Given the description of an element on the screen output the (x, y) to click on. 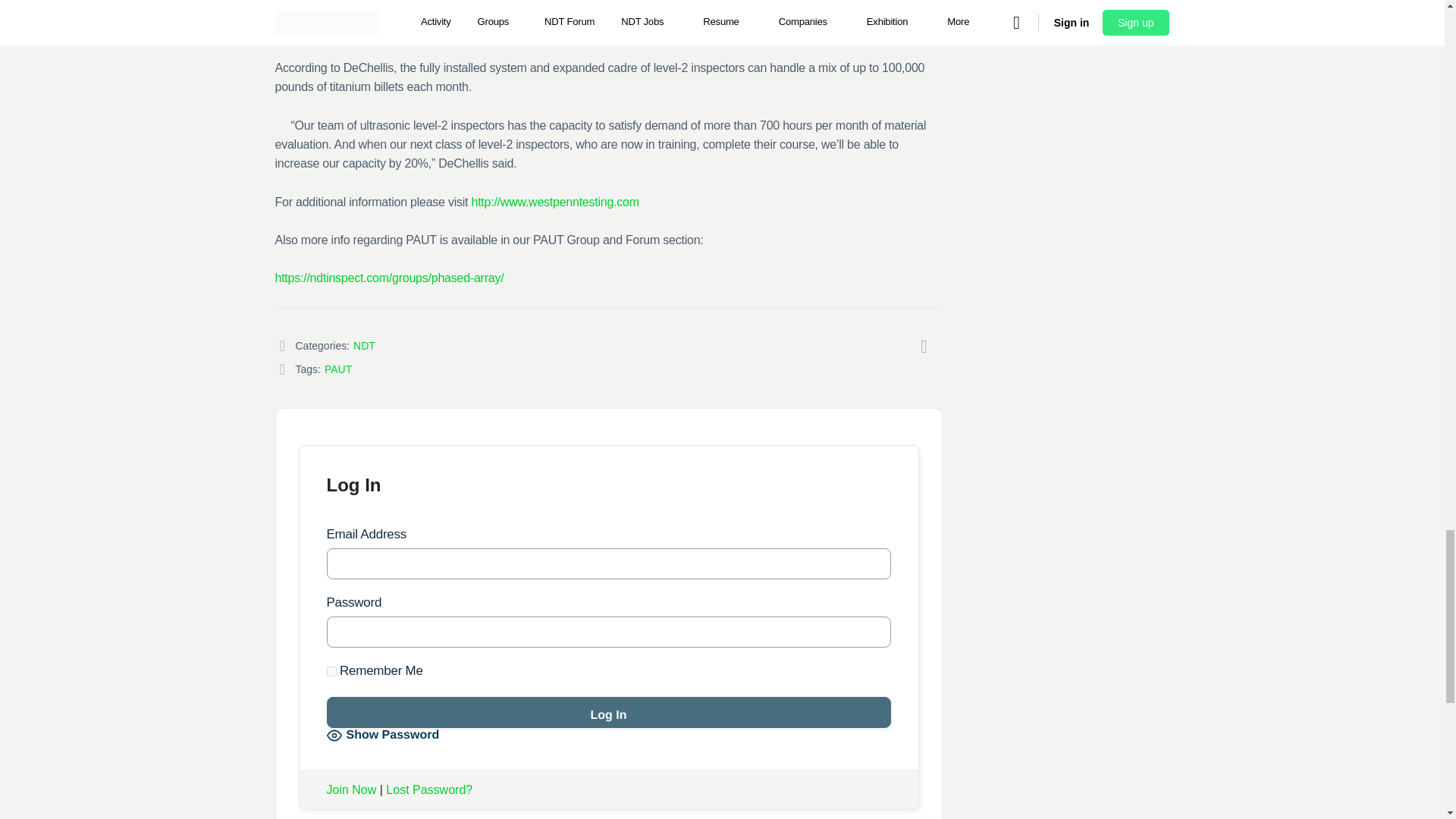
Log In (607, 712)
forever (331, 671)
